Given the description of an element on the screen output the (x, y) to click on. 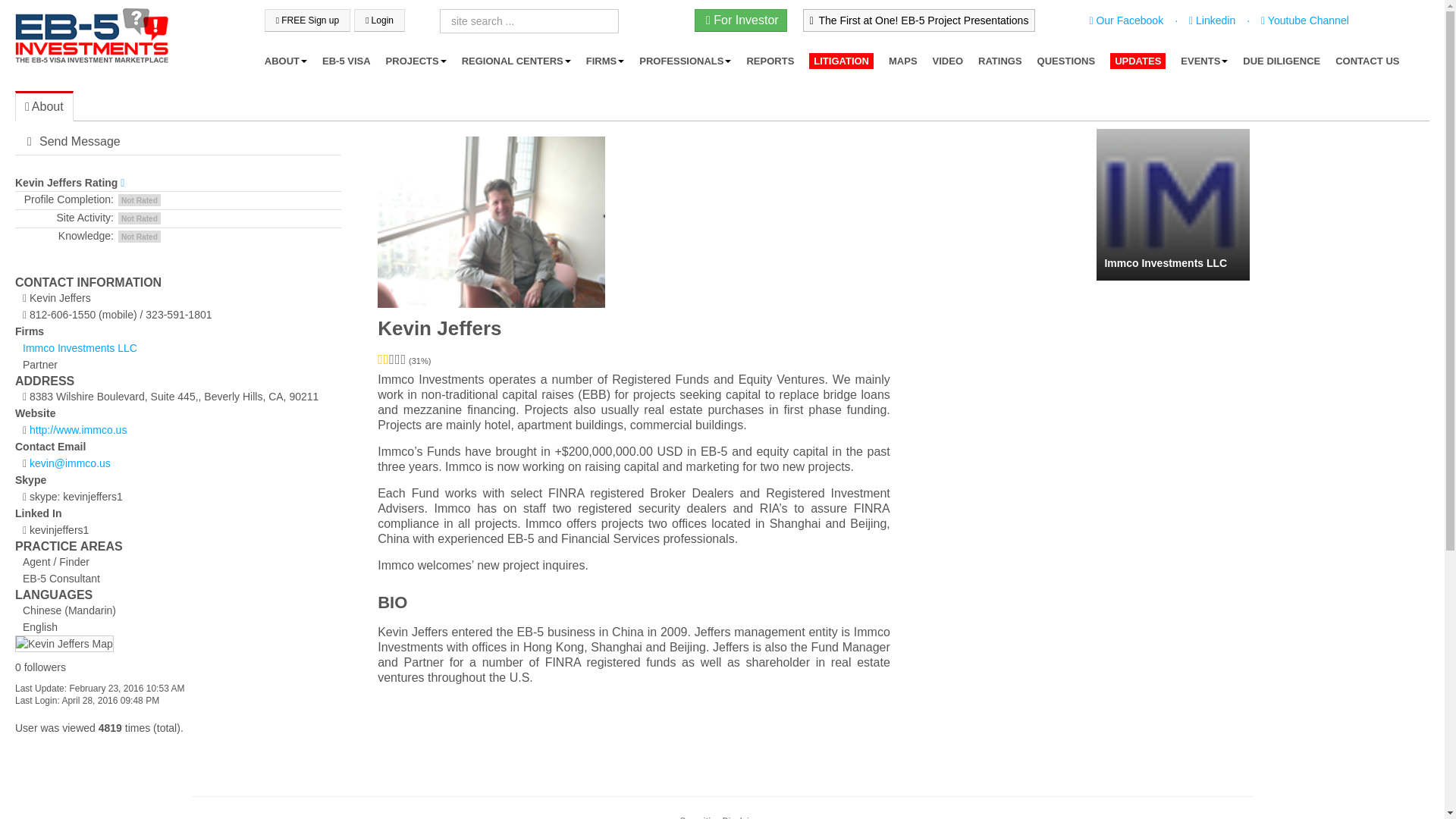
EVENTS (1203, 60)
REPORTS (770, 60)
RATINGS (1000, 60)
EB5Projects.com (91, 35)
The First at One! EB-5 Project Presentations (919, 20)
Youtube Channel (1302, 20)
UPDATES (1137, 60)
Login (378, 20)
MAPS (902, 60)
CONTACT US (1366, 60)
